Given the description of an element on the screen output the (x, y) to click on. 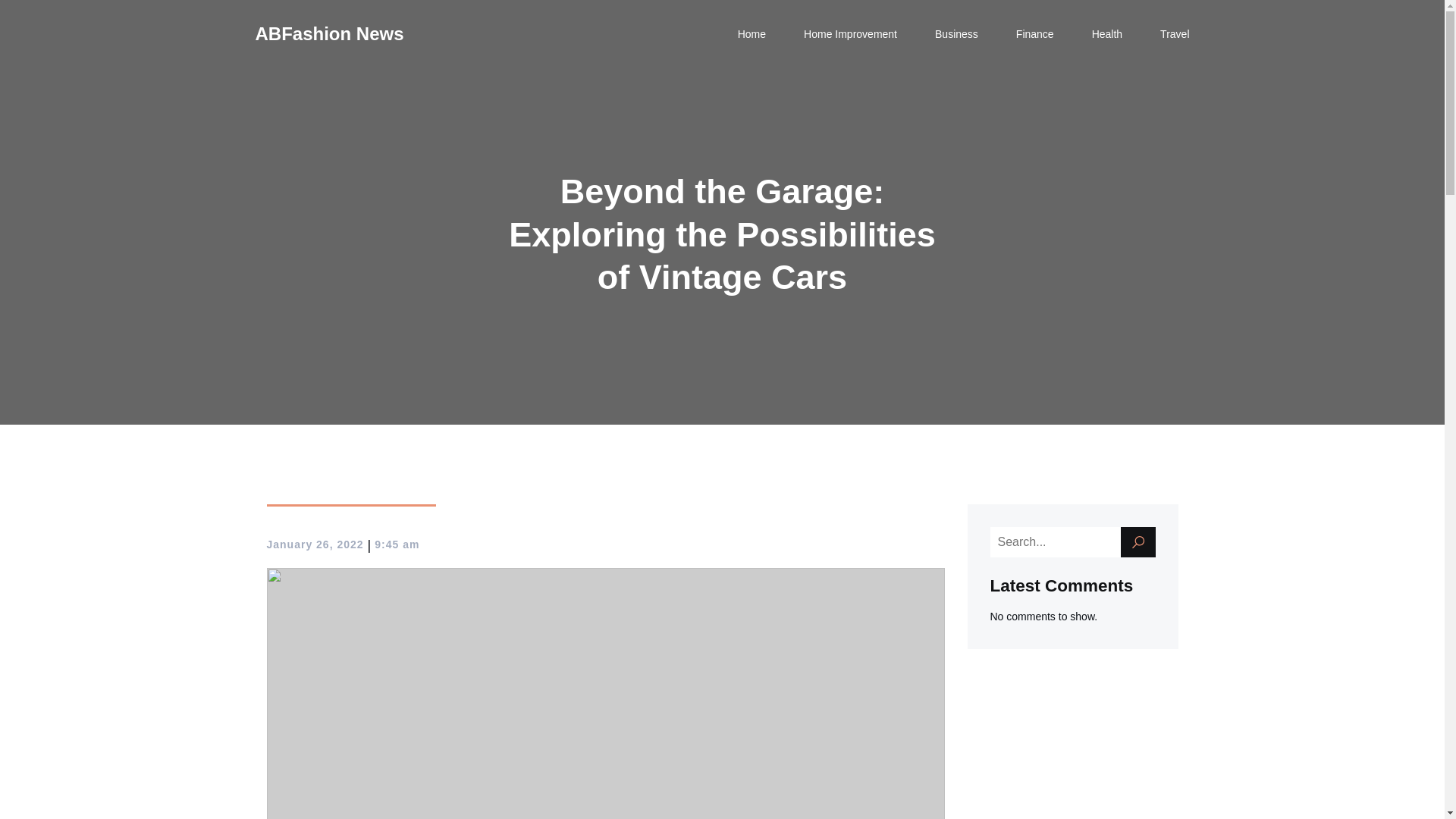
9:45 am (396, 544)
Home Improvement (849, 33)
Home (751, 33)
Finance (1035, 33)
Business (956, 33)
ABFashion News (328, 33)
January 26, 2022 (315, 544)
Health (1107, 33)
Travel (1174, 33)
